Given the description of an element on the screen output the (x, y) to click on. 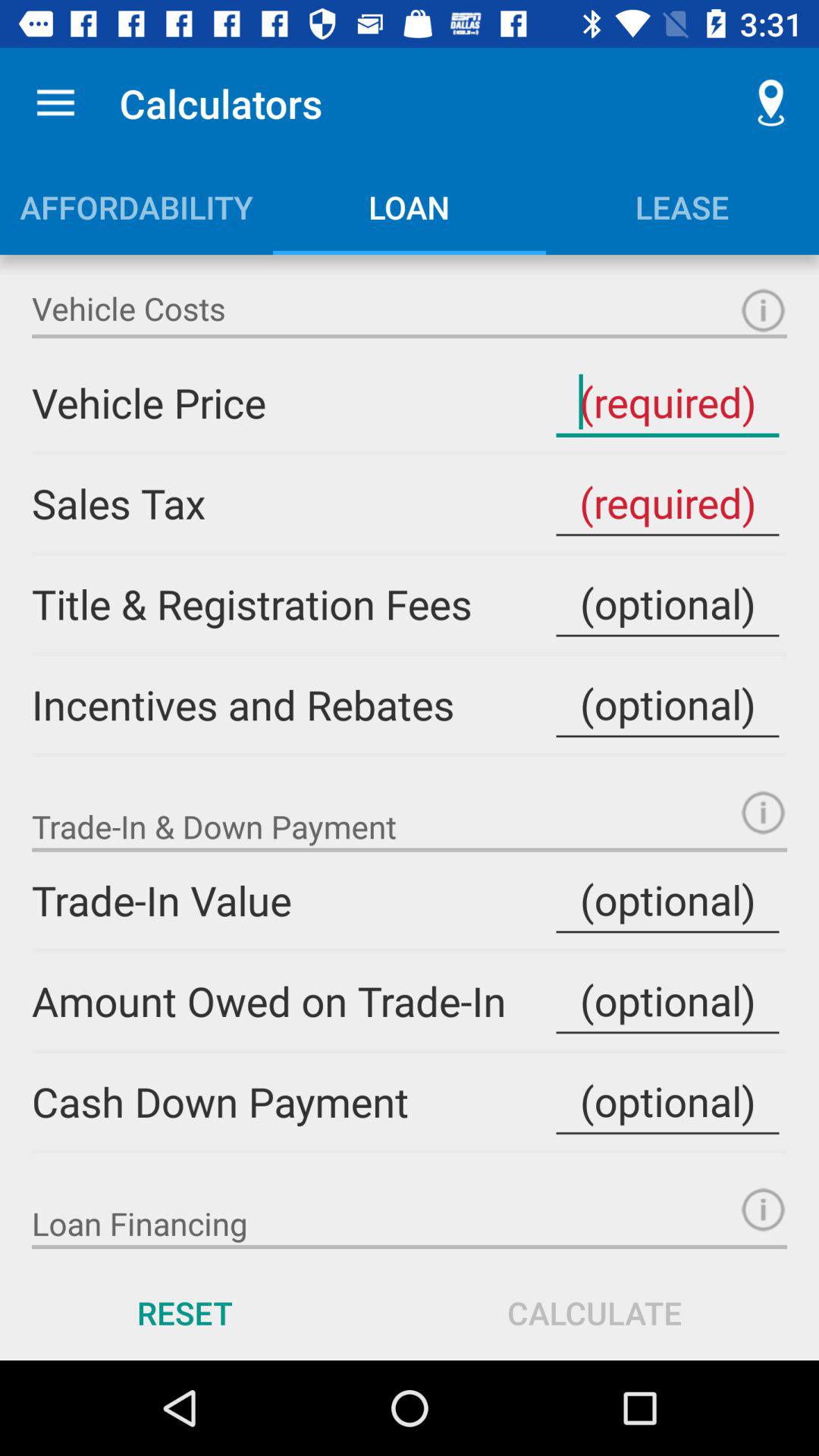
receive information about loan financing (763, 1209)
